Given the description of an element on the screen output the (x, y) to click on. 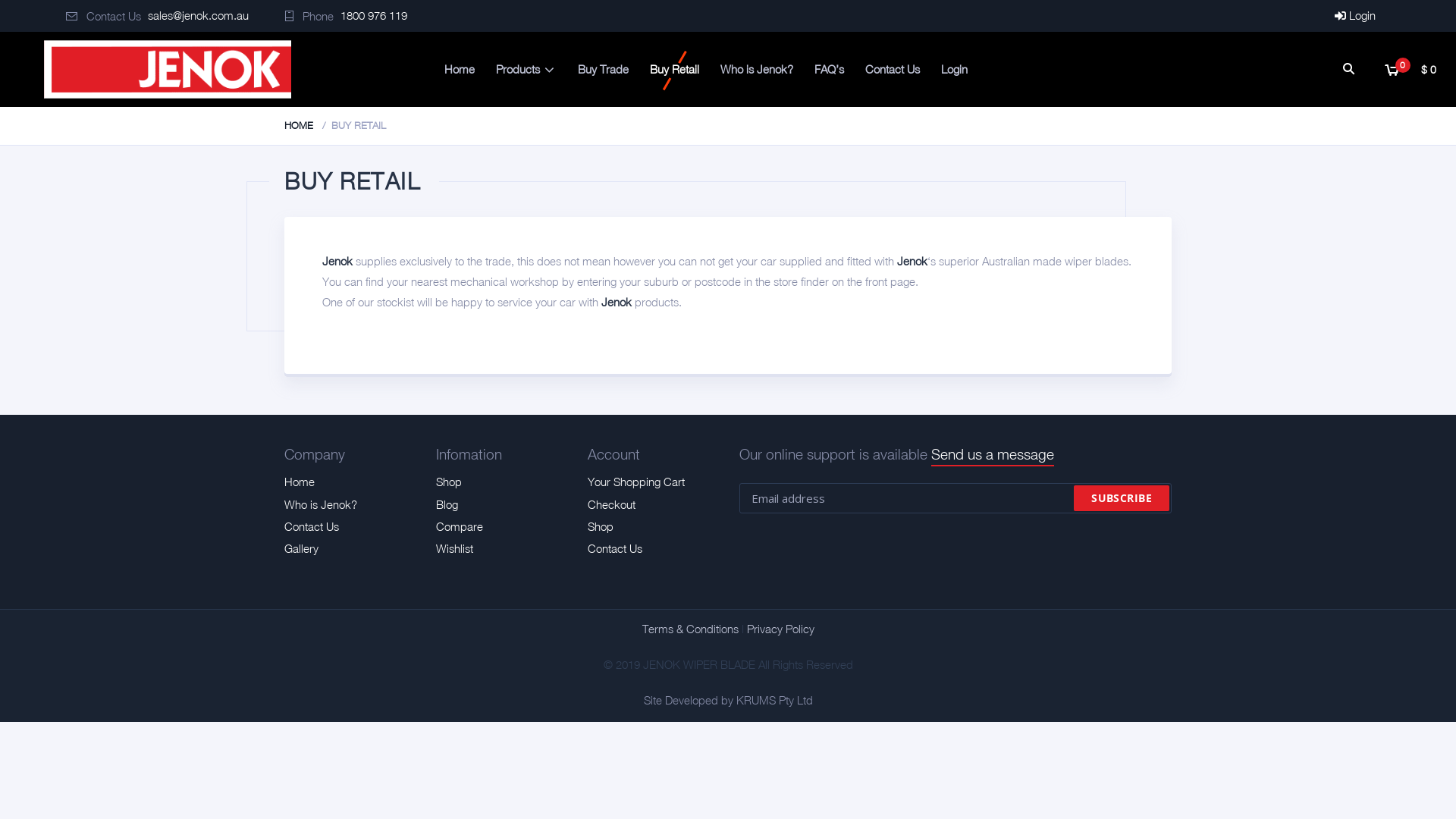
Shop Element type: text (600, 526)
Contact Us Element type: text (614, 548)
Buy Trade Element type: text (602, 69)
Wishlist Element type: text (454, 548)
Products Element type: text (525, 69)
Send us a message Element type: text (992, 455)
Compare Element type: text (459, 526)
Who is Jenok? Element type: text (756, 69)
sales@jenok.com.au Element type: text (197, 14)
Gallery Element type: text (301, 548)
Terms & Conditions Element type: text (689, 628)
Contact Us Element type: text (892, 69)
Subscribe Element type: text (1121, 498)
Privacy Policy Element type: text (779, 628)
Contact Us Element type: text (311, 526)
Who is Jenok? Element type: text (320, 504)
Buy Retail Element type: text (674, 69)
1800 976 119 Element type: text (373, 14)
Login Element type: text (1354, 14)
Your Shopping Cart Element type: text (635, 481)
Home Element type: text (299, 481)
Login Element type: text (954, 69)
Blog Element type: text (447, 504)
HOME Element type: text (298, 125)
Shop Element type: text (448, 481)
Checkout Element type: text (611, 504)
Home Element type: text (459, 69)
